Given the description of an element on the screen output the (x, y) to click on. 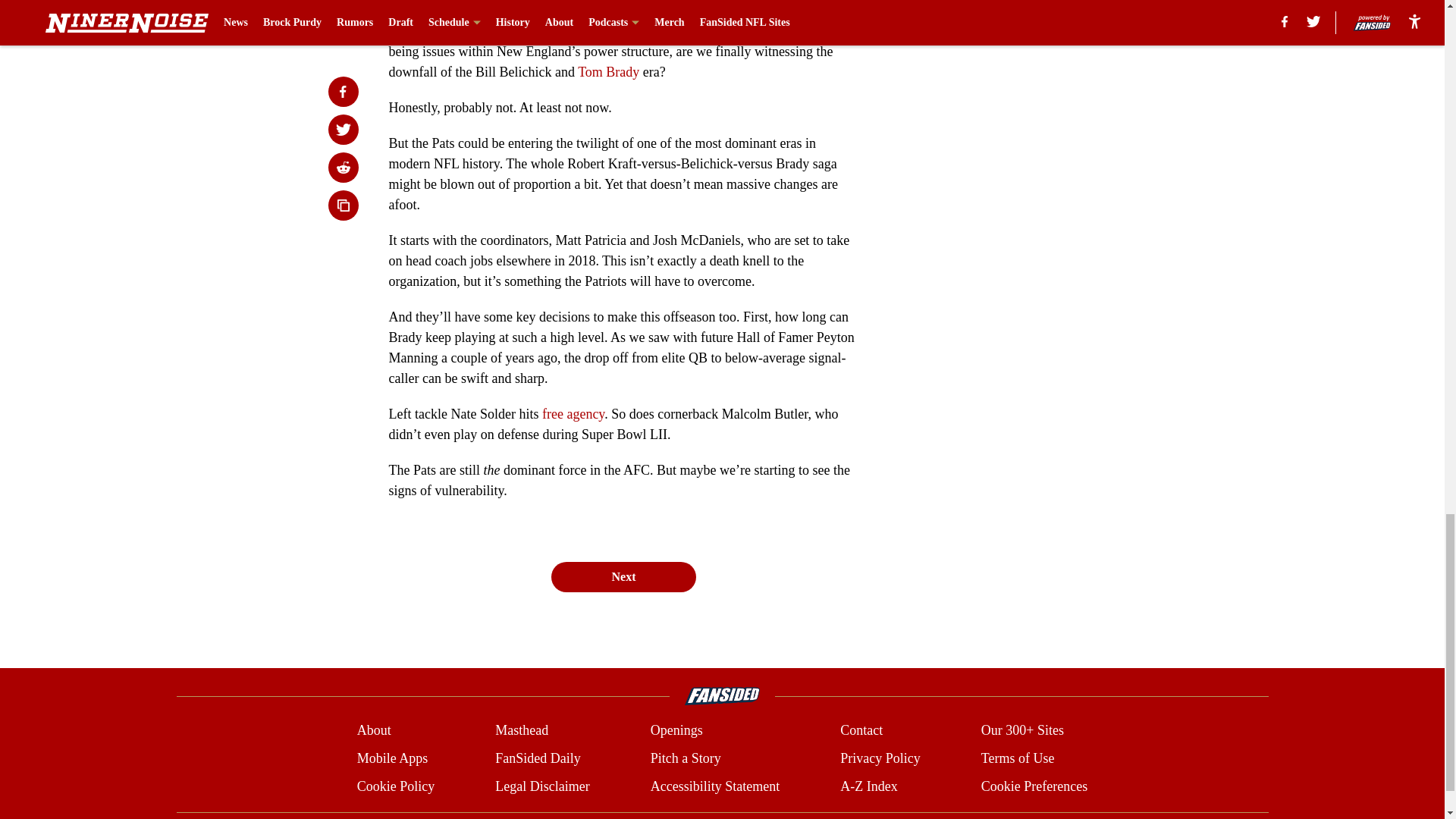
Openings (676, 730)
Next (622, 576)
FanSided Daily (537, 758)
Pitch a Story (685, 758)
free agency (572, 413)
Masthead (521, 730)
About (373, 730)
Privacy Policy (880, 758)
Mobile Apps (392, 758)
Tom Brady (608, 71)
Contact (861, 730)
